Given the description of an element on the screen output the (x, y) to click on. 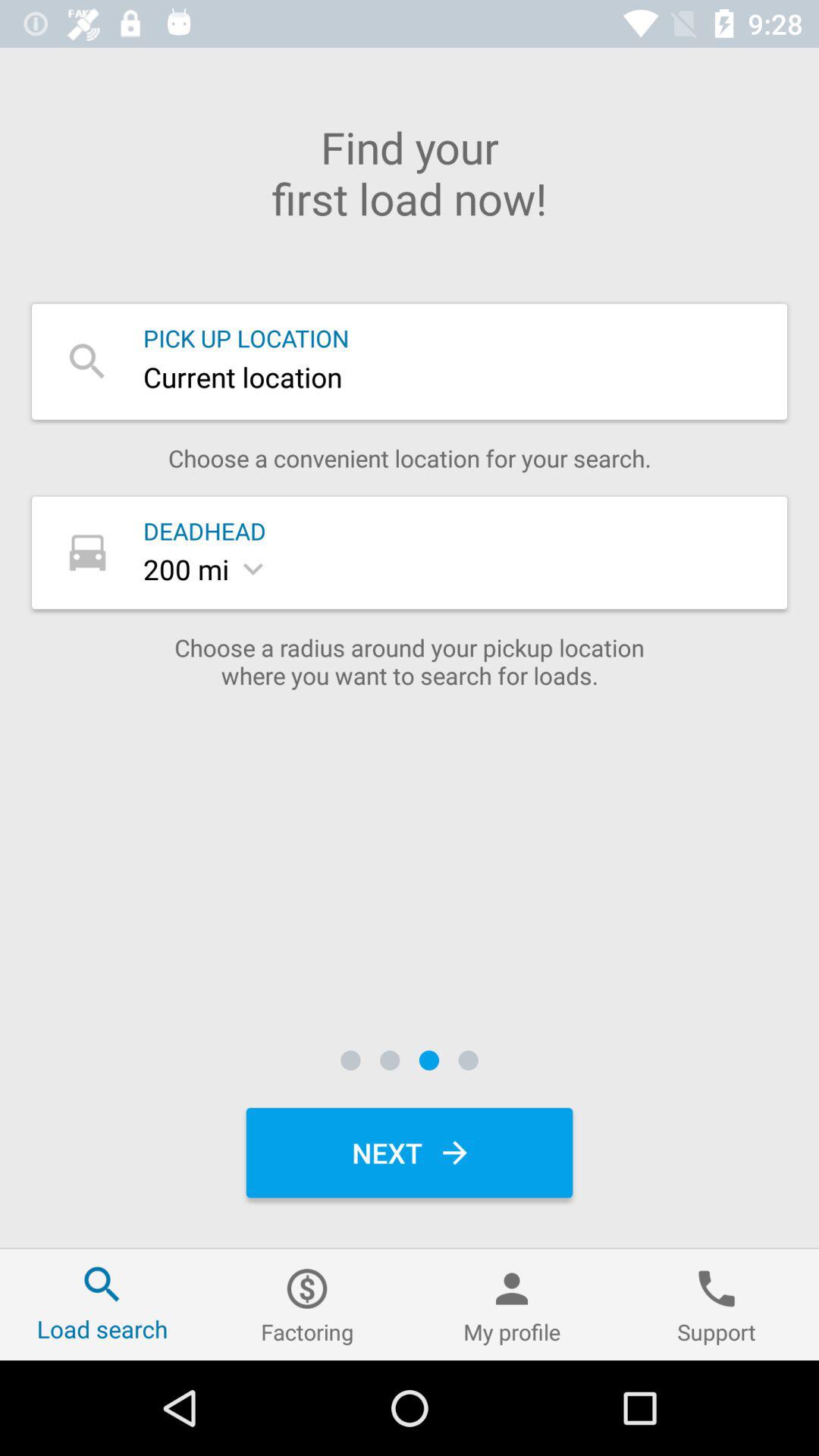
open the icon at the bottom left corner (102, 1304)
